Given the description of an element on the screen output the (x, y) to click on. 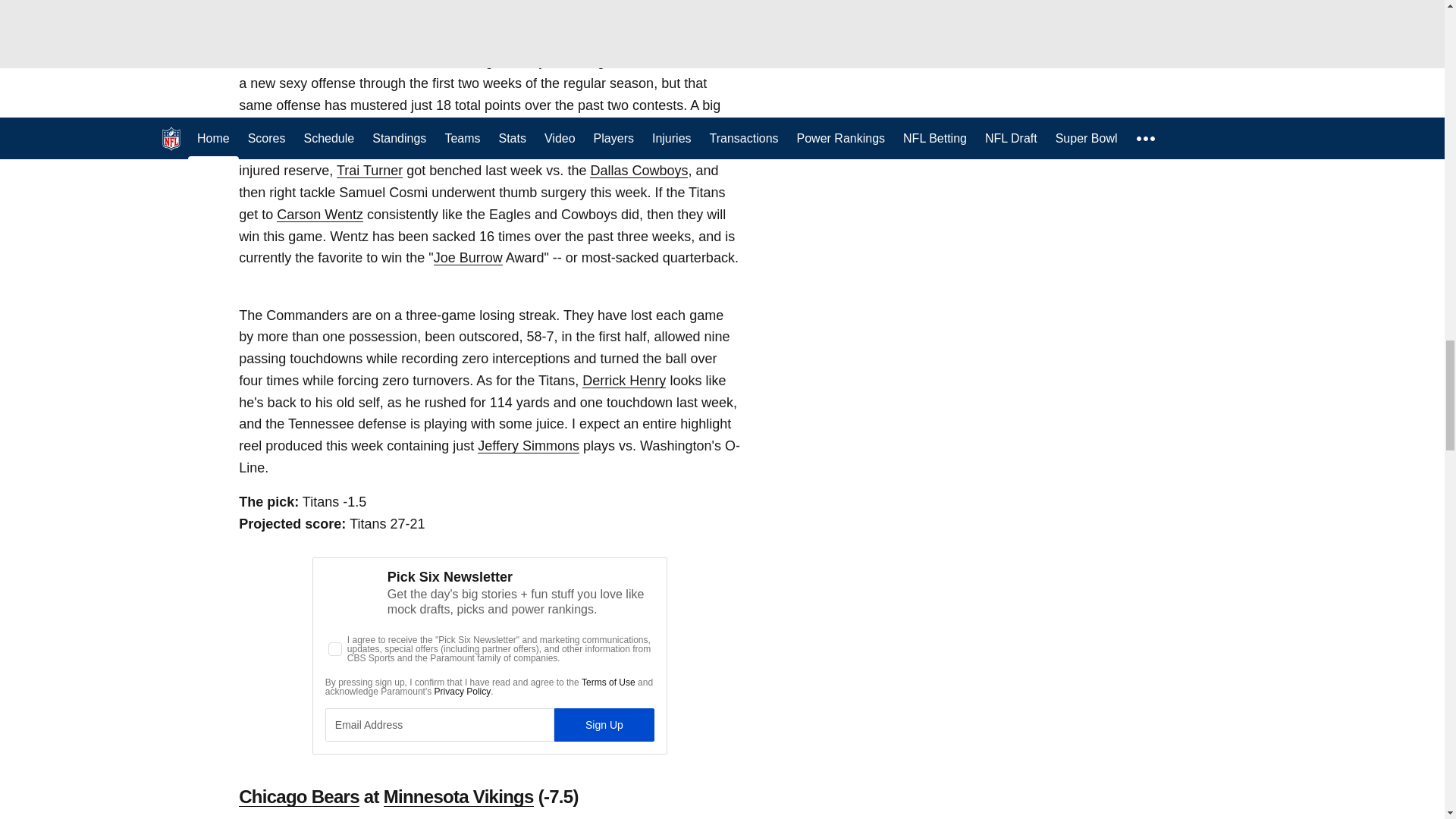
Sign Up (603, 725)
on (335, 649)
